Given the description of an element on the screen output the (x, y) to click on. 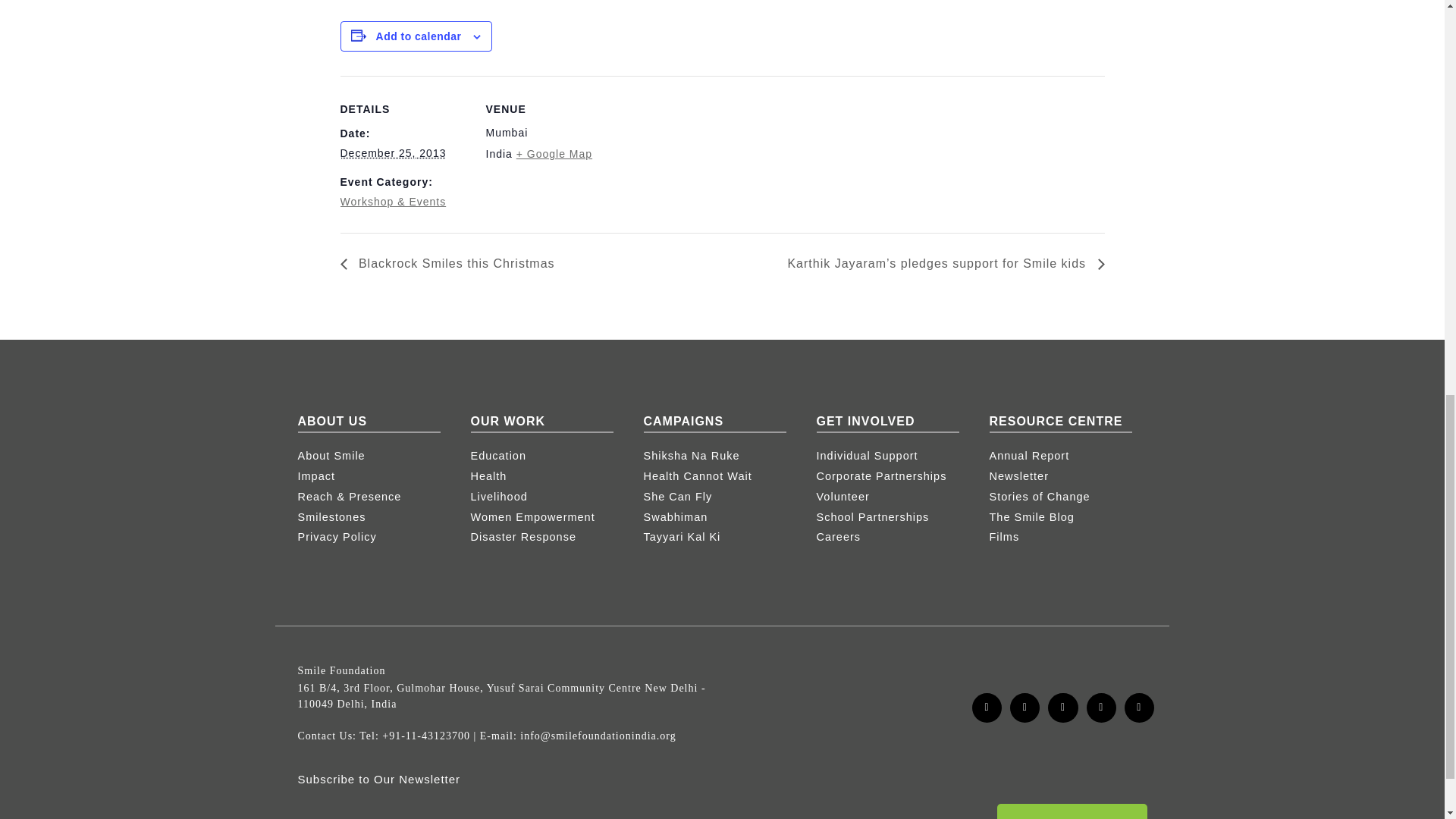
Click to Call (425, 736)
2013-12-25 (392, 152)
Click to view a Google Map (554, 153)
